Given the description of an element on the screen output the (x, y) to click on. 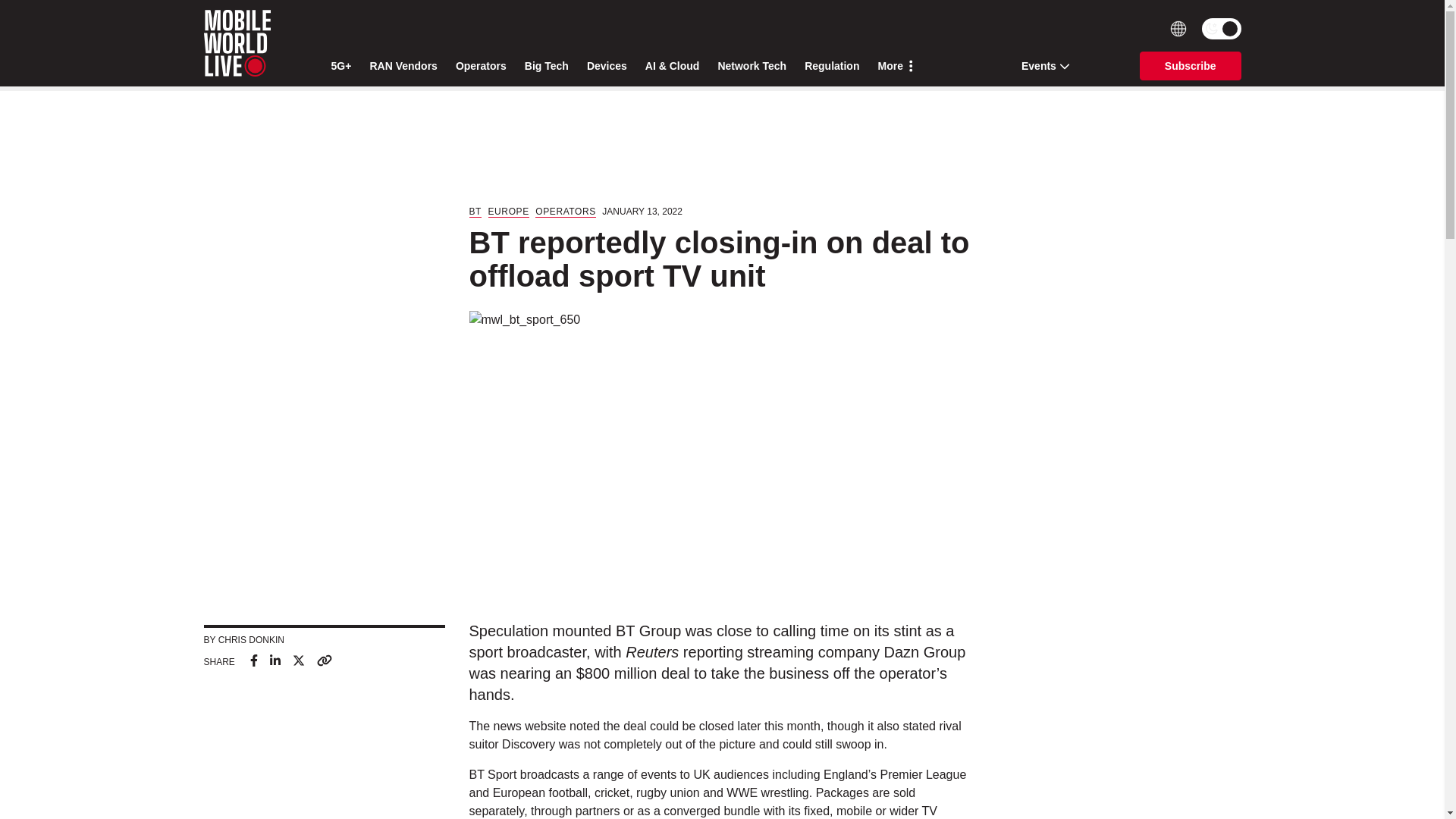
Events (1040, 65)
Devices (606, 65)
Network Tech (751, 65)
Regulation (832, 65)
Operators (480, 65)
Big Tech (546, 65)
Subscribe (1190, 65)
RAN Vendors (402, 65)
